Given the description of an element on the screen output the (x, y) to click on. 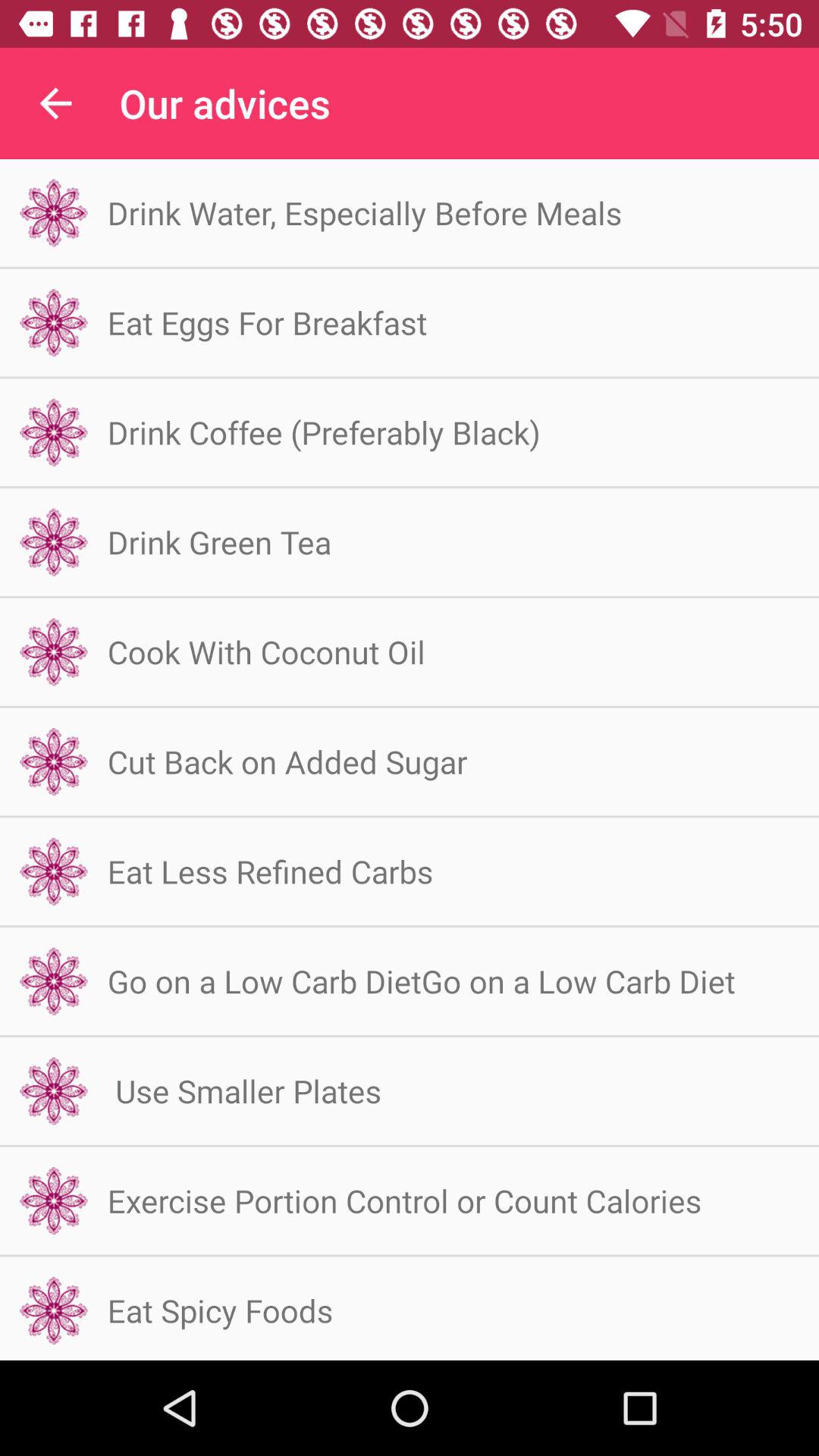
launch the item to the left of the our advices app (55, 103)
